Given the description of an element on the screen output the (x, y) to click on. 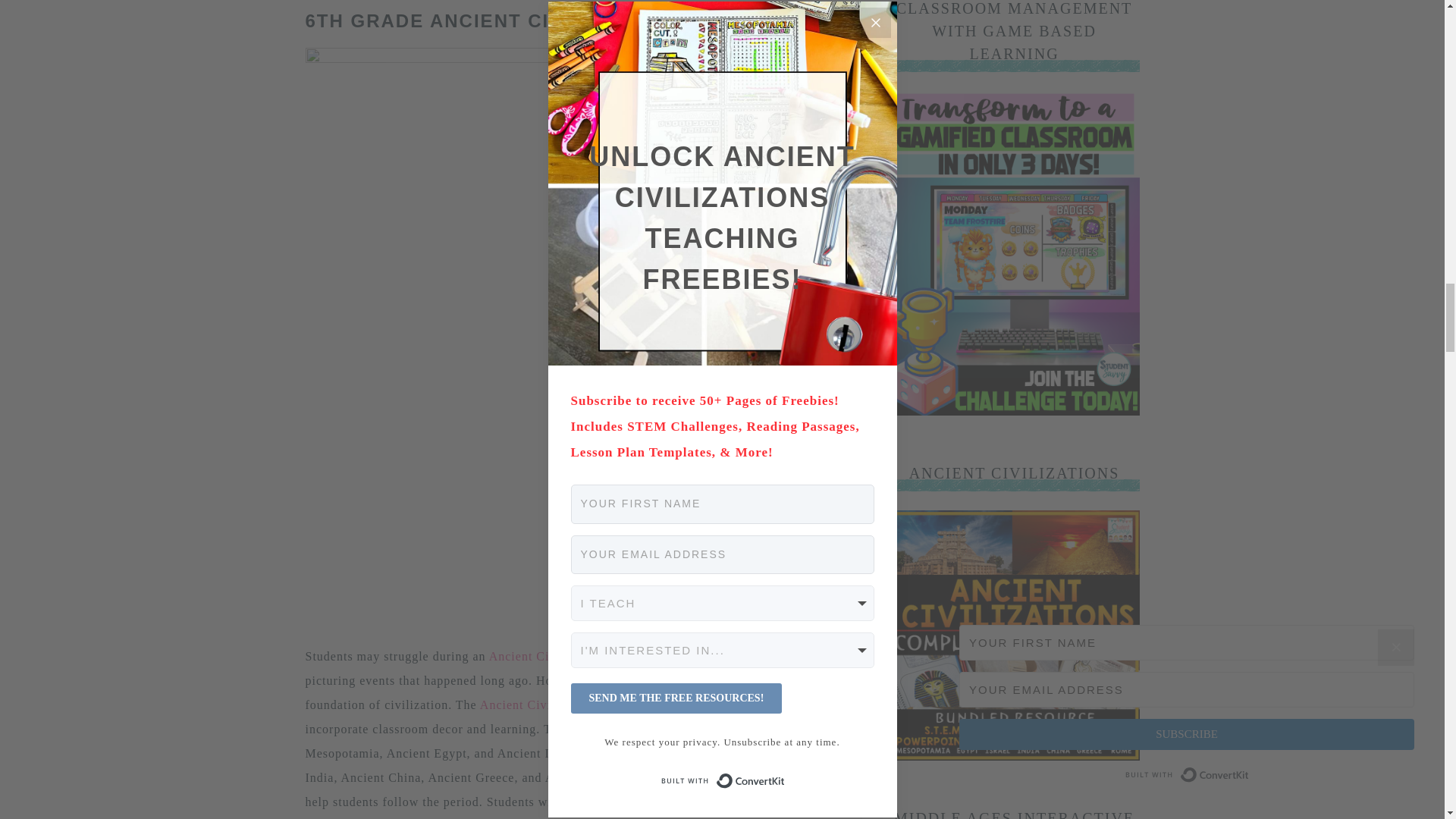
ANCIENT CIVILIZATIONS (1013, 756)
